Given the description of an element on the screen output the (x, y) to click on. 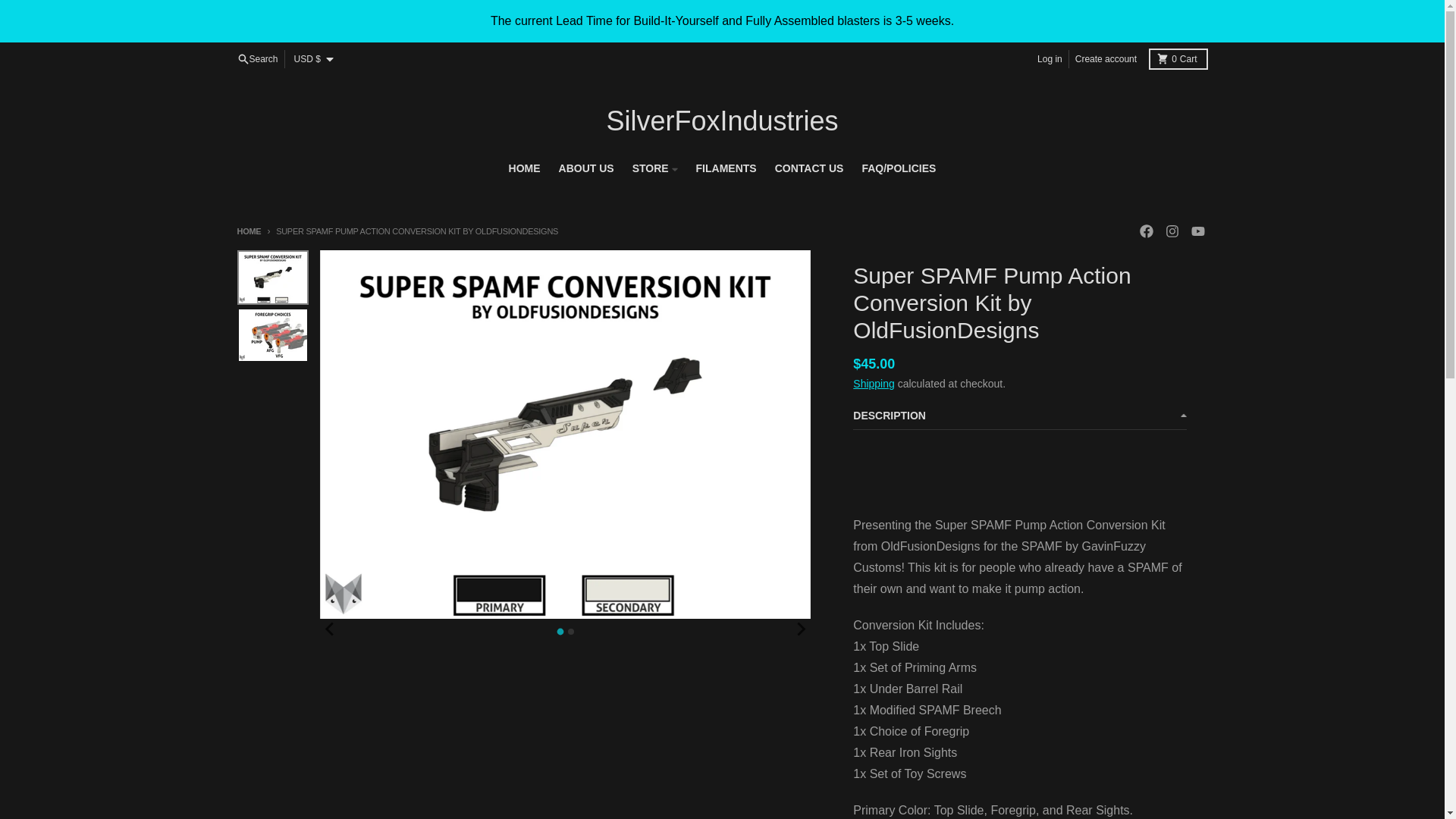
YouTube - SilverFoxIndustries (1197, 230)
Search (256, 58)
HOME (524, 167)
Facebook - SilverFoxIndustries (1145, 230)
Create account (1105, 58)
CONTACT US (809, 167)
ABOUT US (586, 167)
SilverFoxIndustries (721, 121)
Log in (1049, 58)
Back to the homepage (247, 230)
FILAMENTS (1177, 58)
Instagram - SilverFoxIndustries (726, 167)
